Given the description of an element on the screen output the (x, y) to click on. 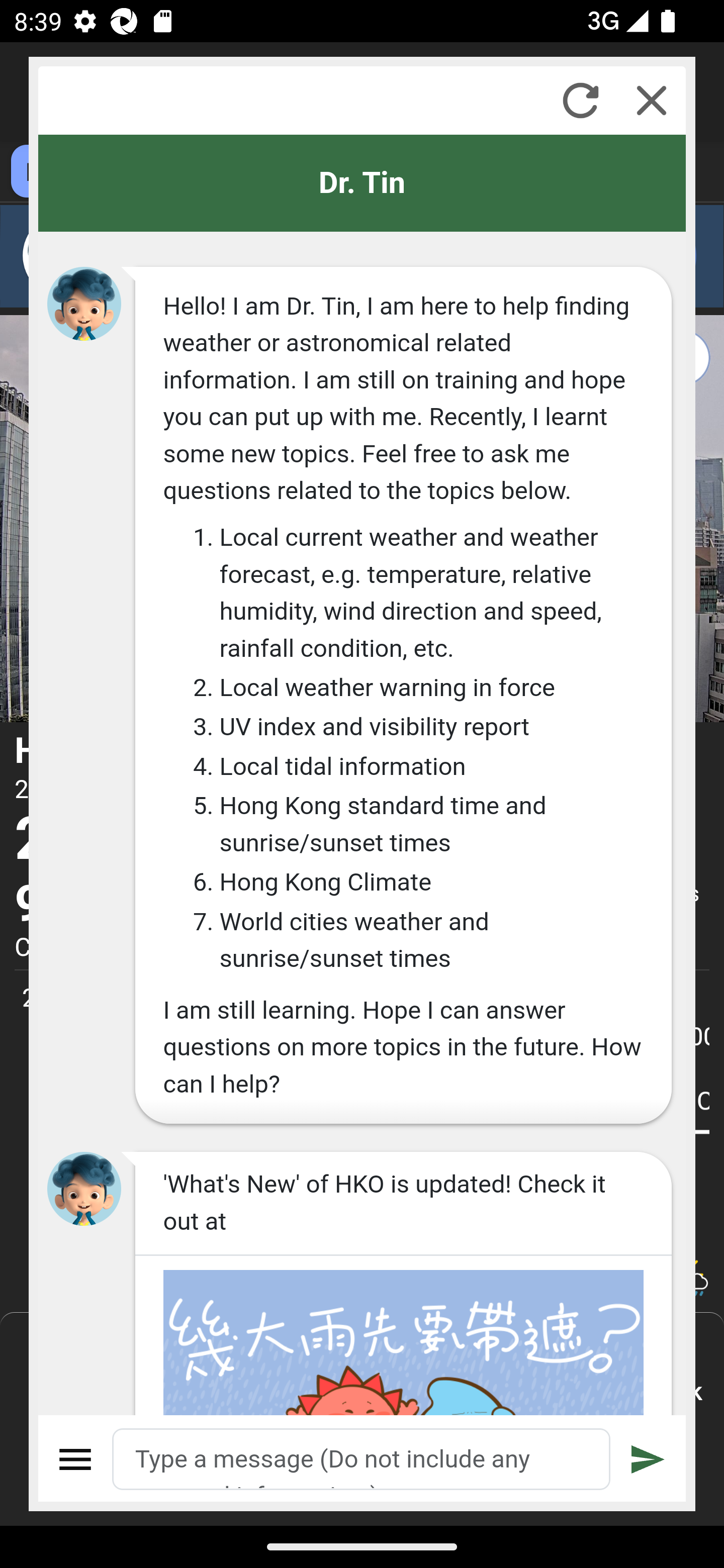
Refresh (580, 100)
Close (651, 100)
Menu (75, 1458)
Submit (648, 1458)
